Given the description of an element on the screen output the (x, y) to click on. 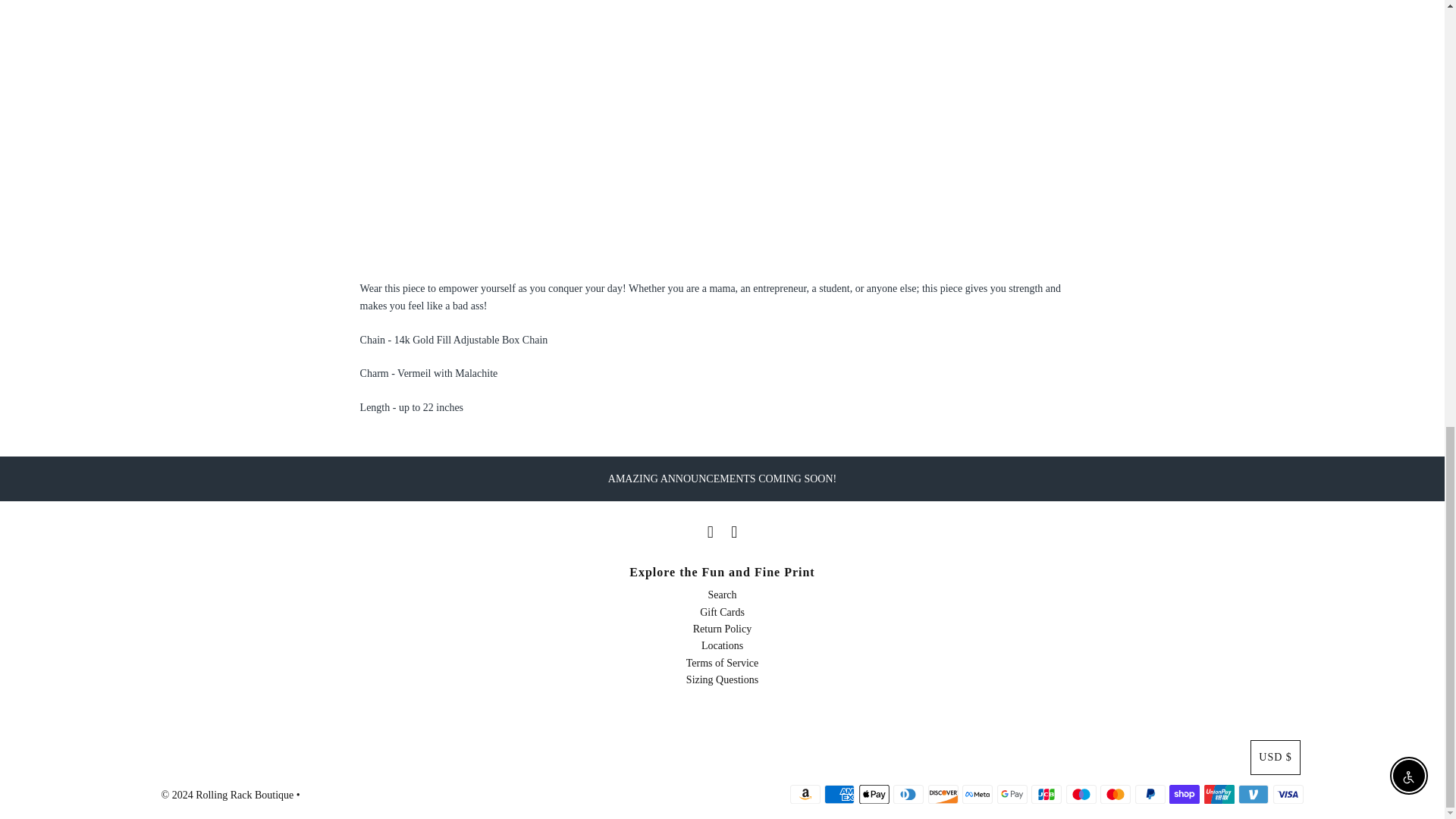
American Express (839, 794)
Google Pay (1012, 794)
Meta Pay (977, 794)
Mastercard (1115, 794)
Apple Pay (874, 794)
Discover (943, 794)
Venmo (1253, 794)
Amazon (805, 794)
Shop Pay (1184, 794)
Maestro (1080, 794)
PayPal (1150, 794)
Diners Club (908, 794)
Visa (1287, 794)
JCB (1045, 794)
Union Pay (1219, 794)
